Given the description of an element on the screen output the (x, y) to click on. 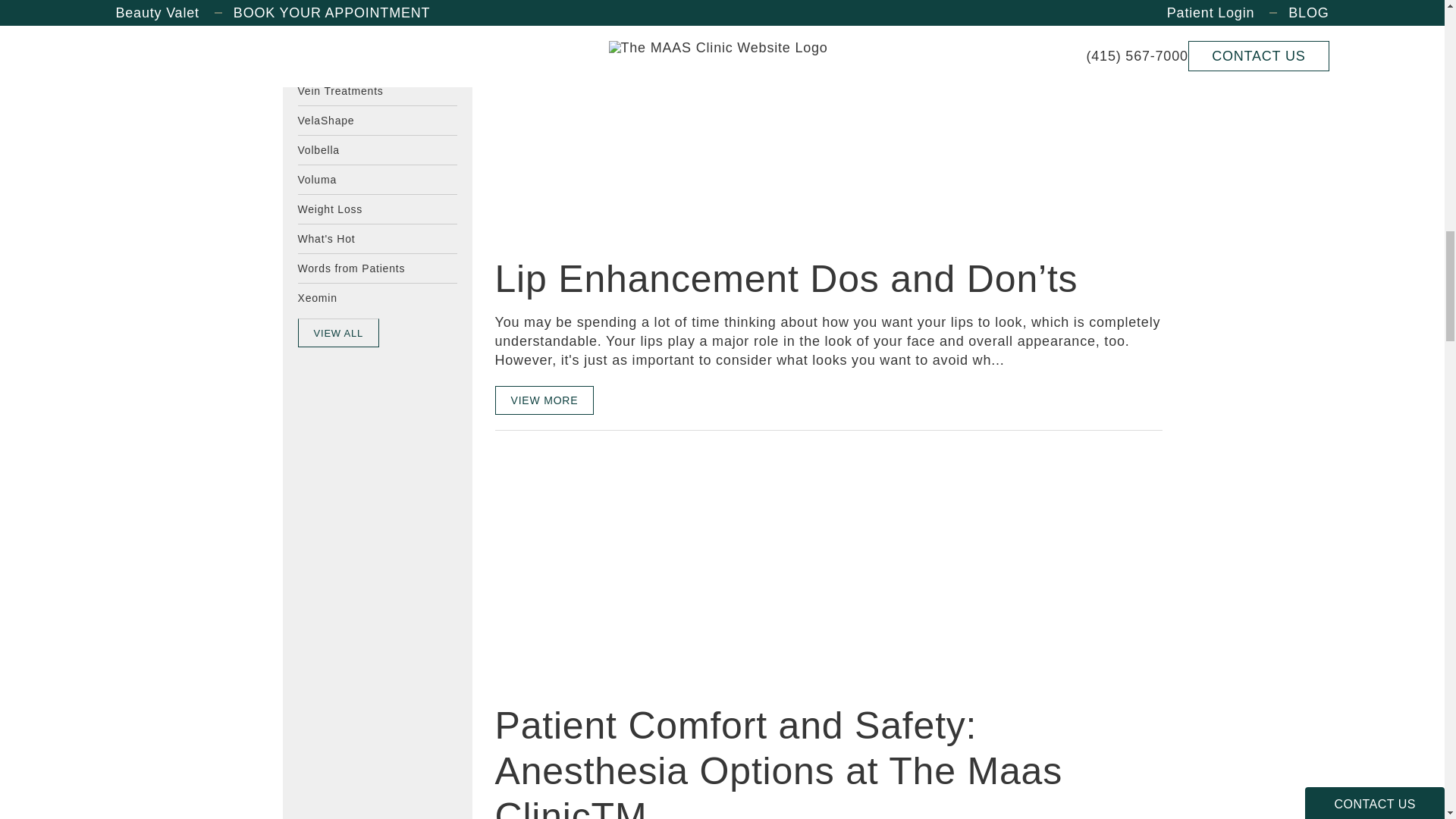
View blog article (608, 120)
View full blog article (544, 399)
View blog article (608, 565)
